Given the description of an element on the screen output the (x, y) to click on. 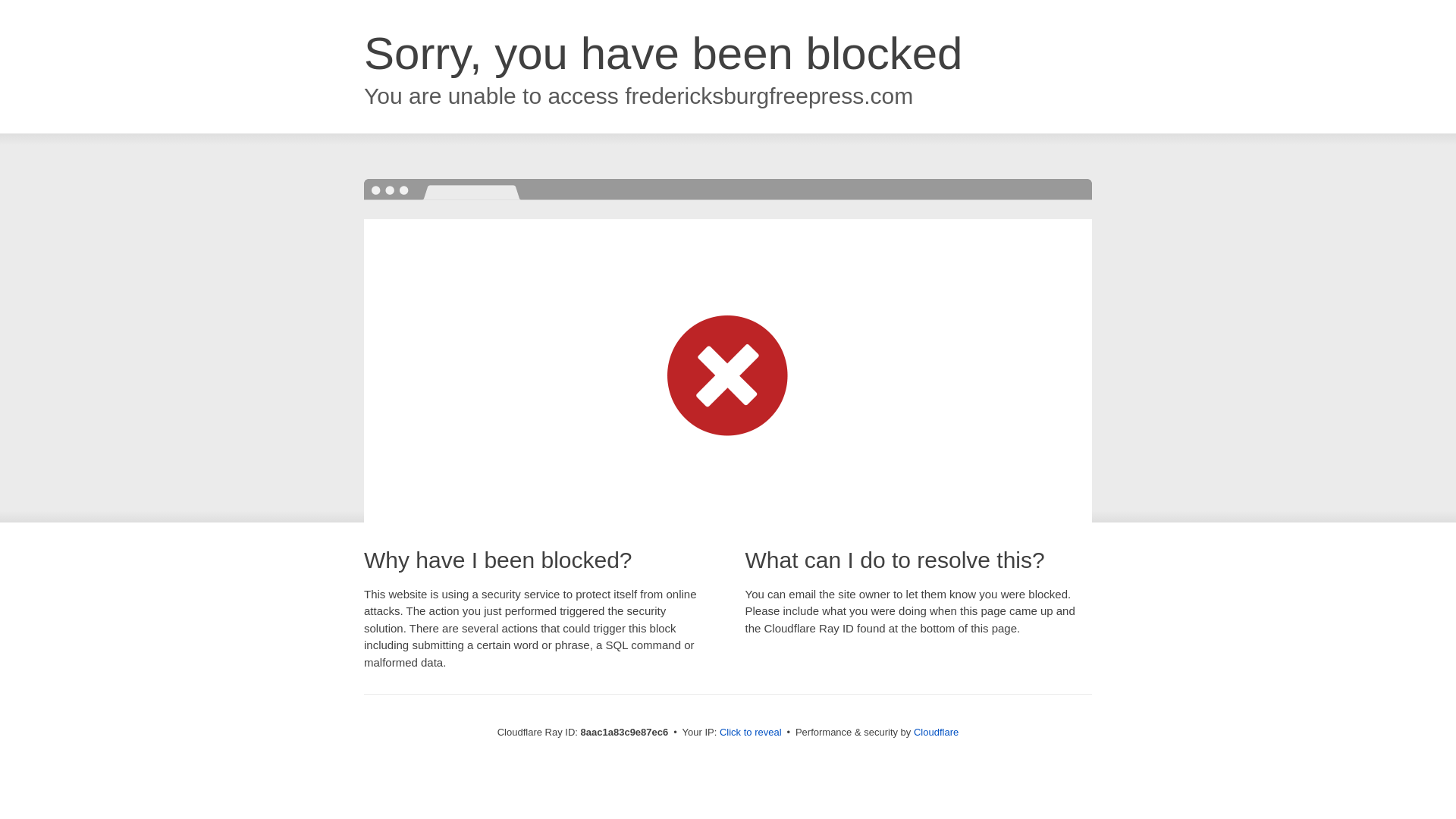
Cloudflare (936, 731)
Click to reveal (750, 732)
